Given the description of an element on the screen output the (x, y) to click on. 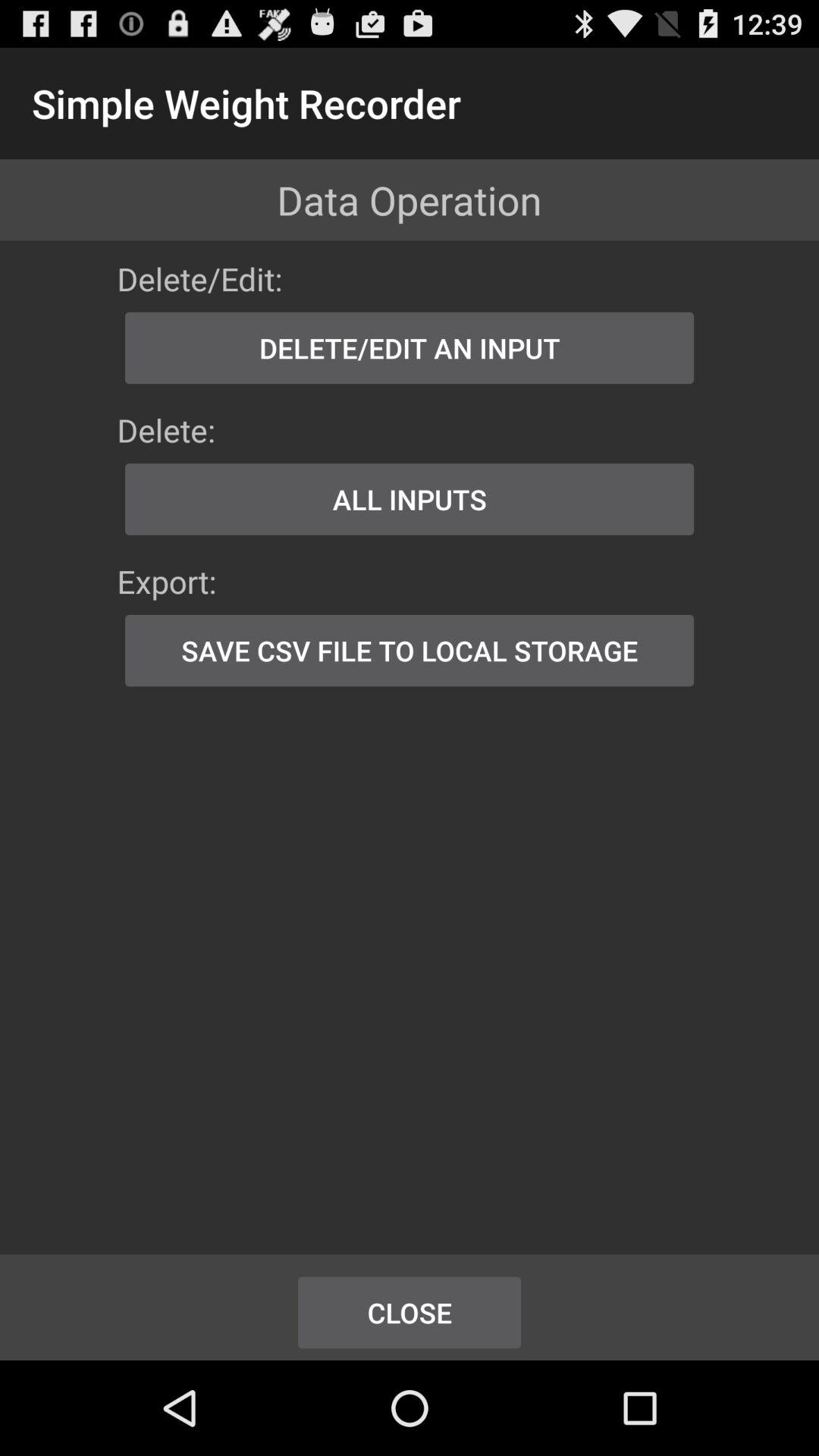
turn on the icon below the export: icon (409, 650)
